Given the description of an element on the screen output the (x, y) to click on. 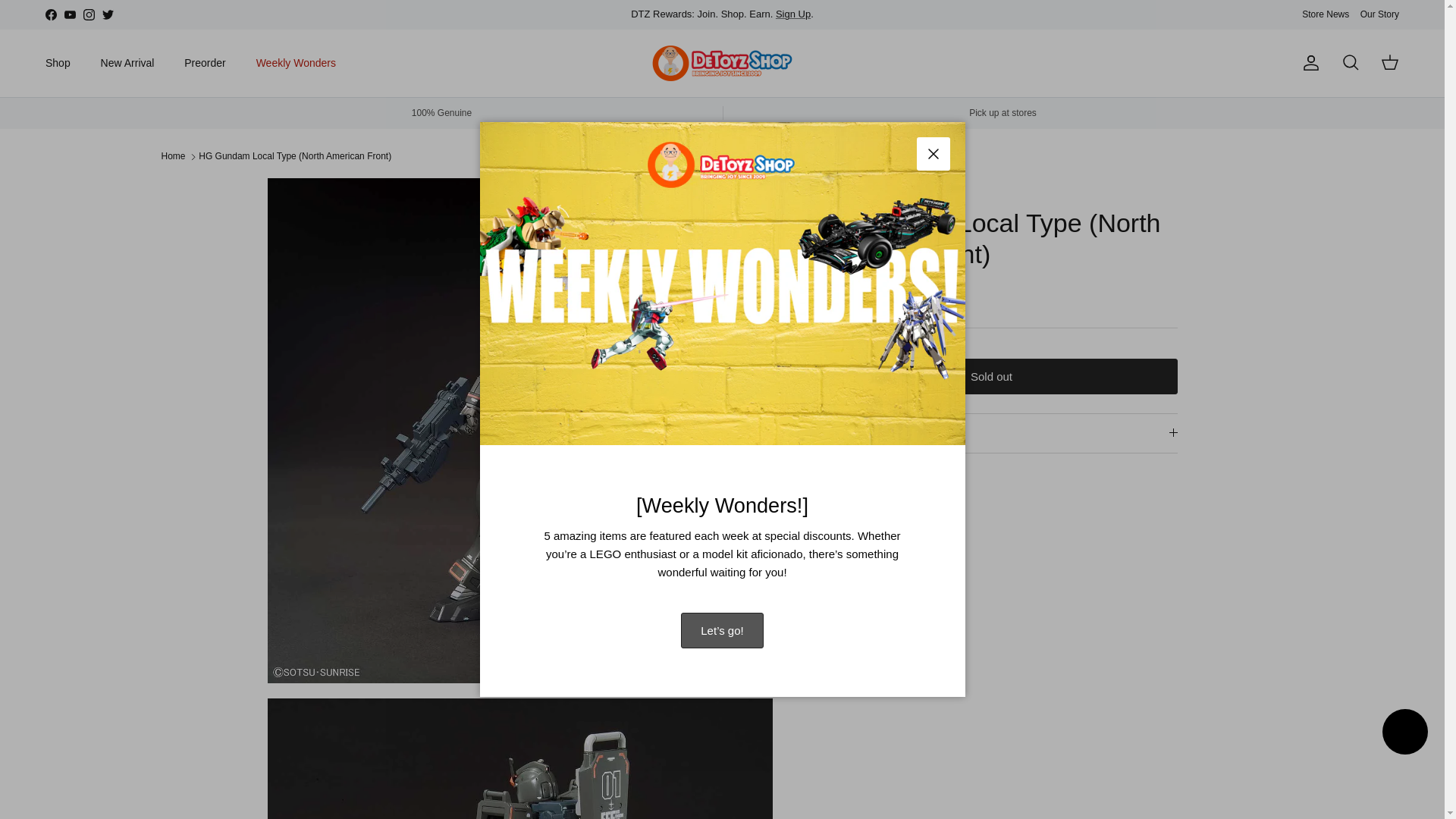
Shopify online store chat (1404, 733)
Weekly Wonders (296, 62)
Preorder (204, 62)
De Toyz Shop (722, 63)
Sign Up (793, 13)
Account Sign in (793, 13)
Tweet on X (843, 498)
Our Story (1379, 13)
De Toyz Shop on Twitter (107, 14)
Store News (1325, 13)
Share on Facebook (862, 498)
De Toyz Shop on Facebook (50, 14)
De Toyz Shop on Instagram (88, 14)
Instagram (88, 14)
Shop (58, 62)
